Given the description of an element on the screen output the (x, y) to click on. 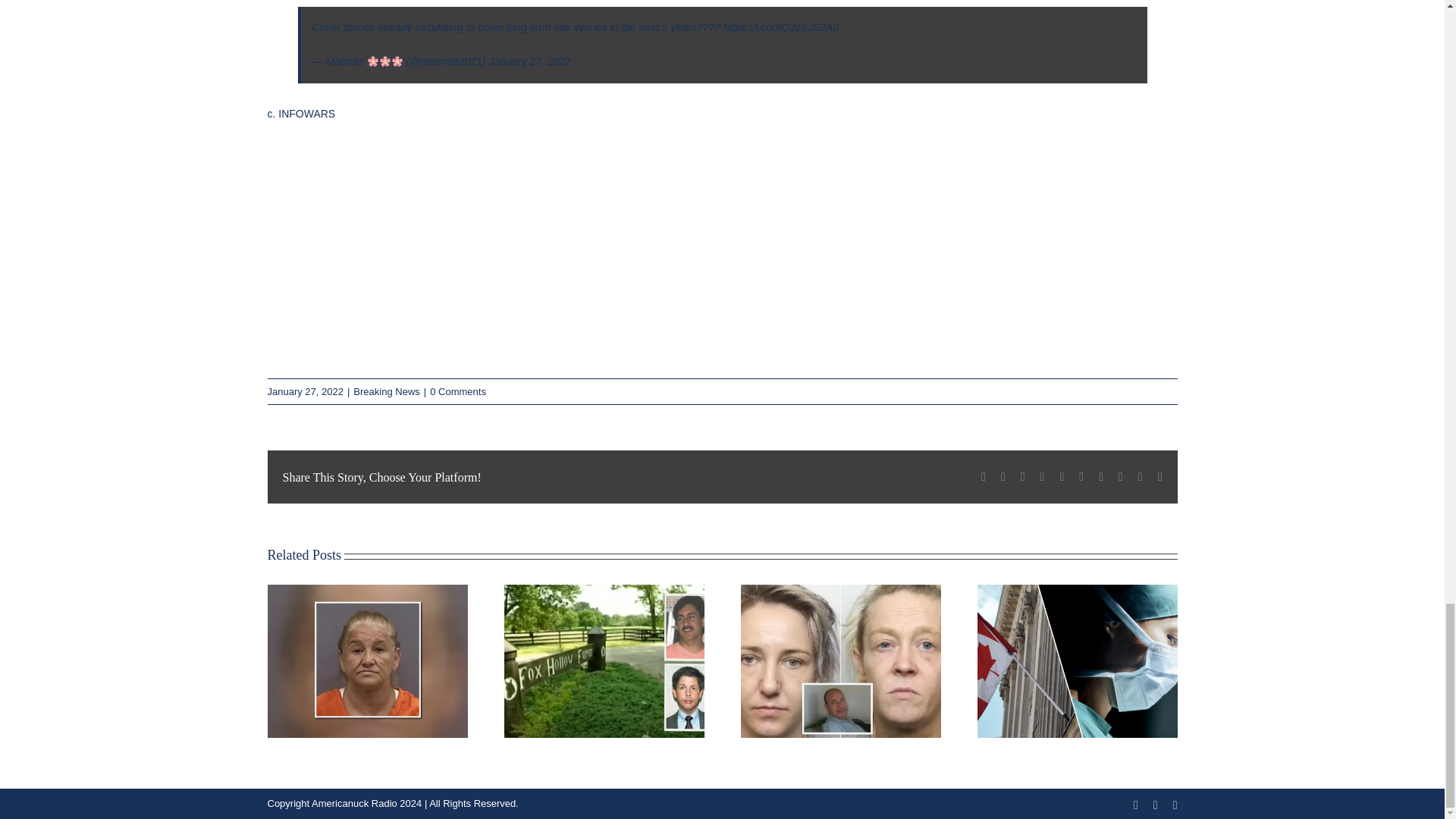
0 Comments (457, 391)
Breaking News (386, 391)
January 27, 2022 (529, 61)
c. INFOWARS (300, 113)
